Given the description of an element on the screen output the (x, y) to click on. 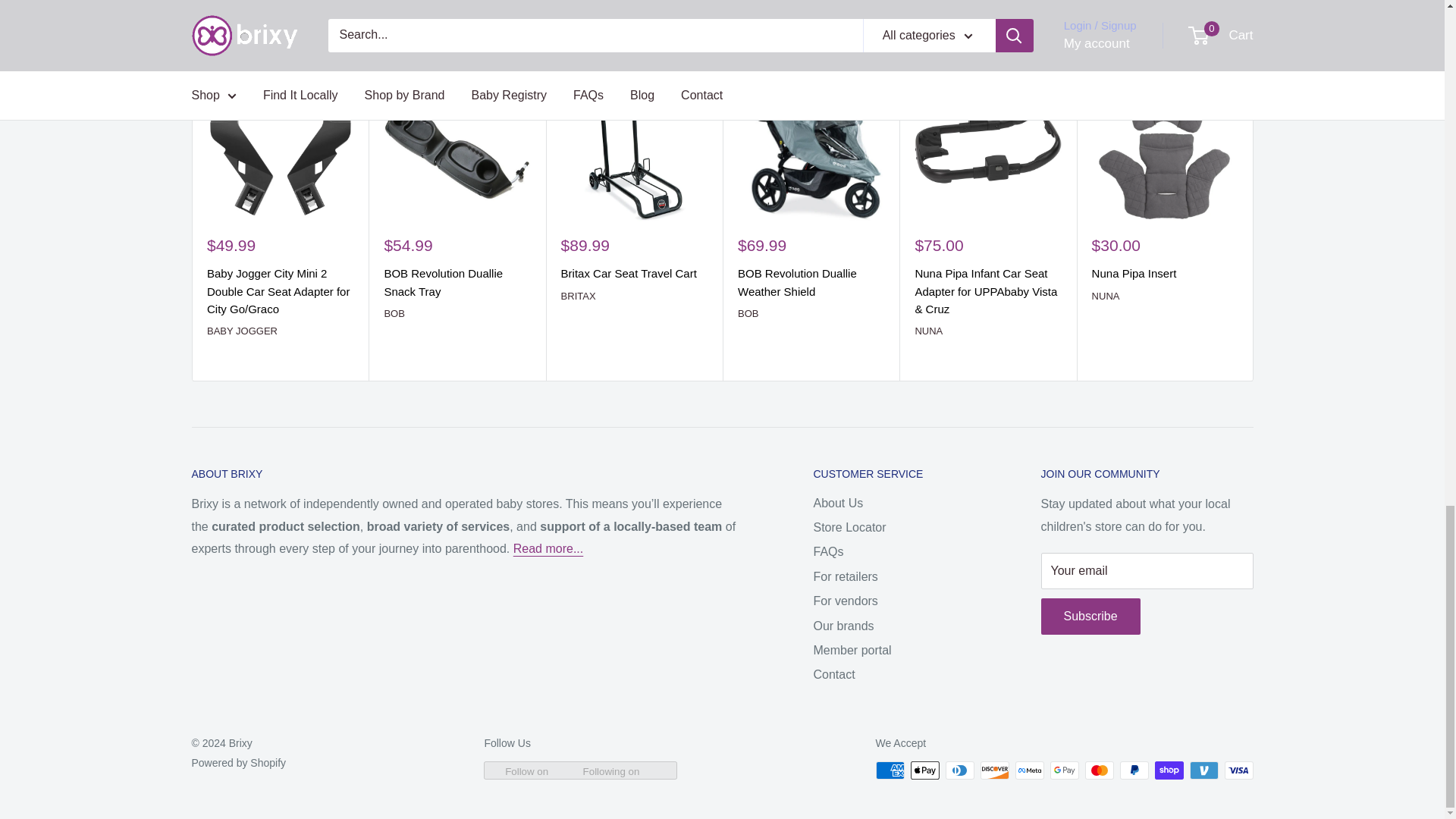
About Us (548, 548)
